Given the description of an element on the screen output the (x, y) to click on. 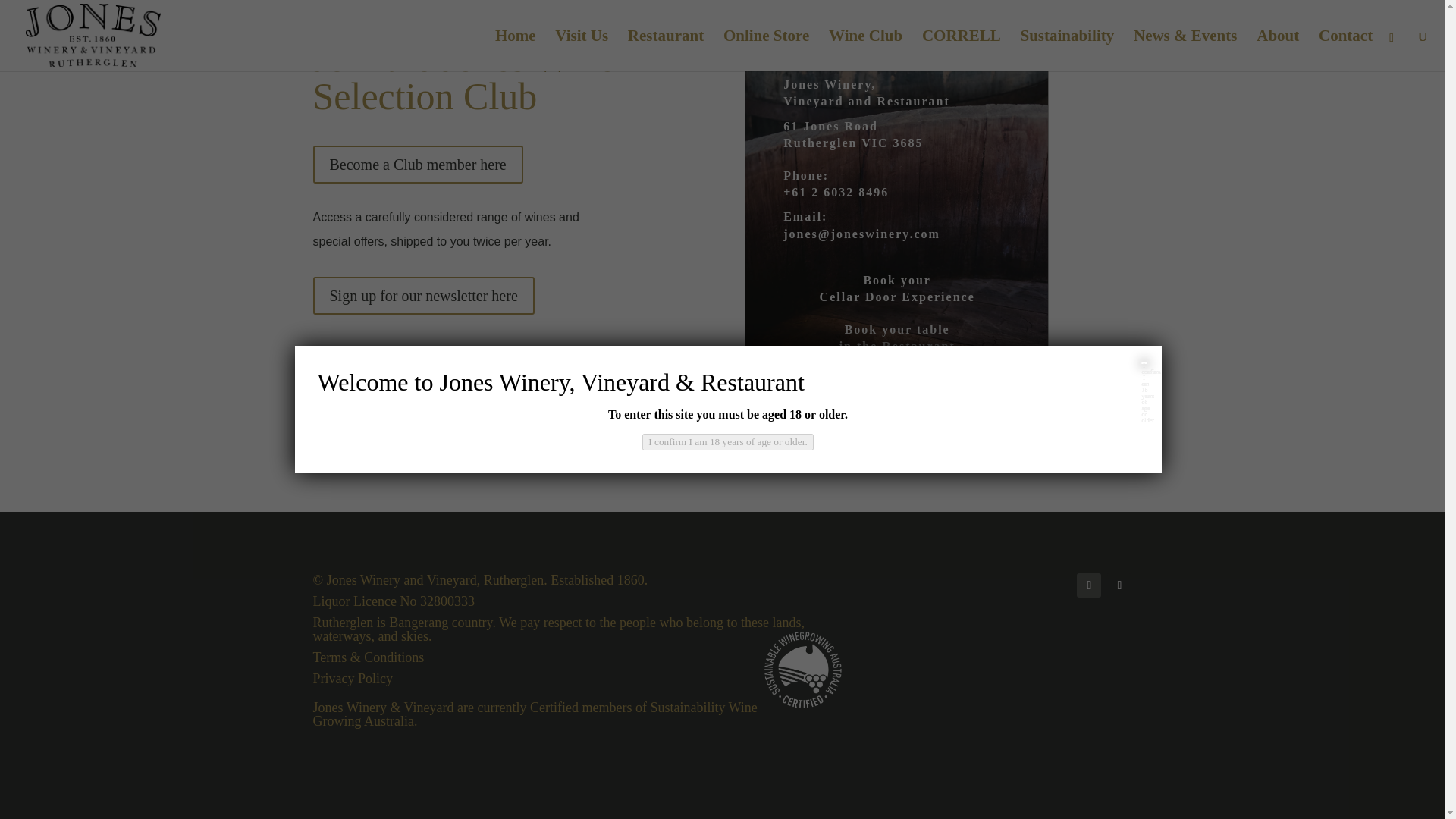
Follow on Instagram (1118, 585)
Follow on Facebook (1088, 585)
